Given the description of an element on the screen output the (x, y) to click on. 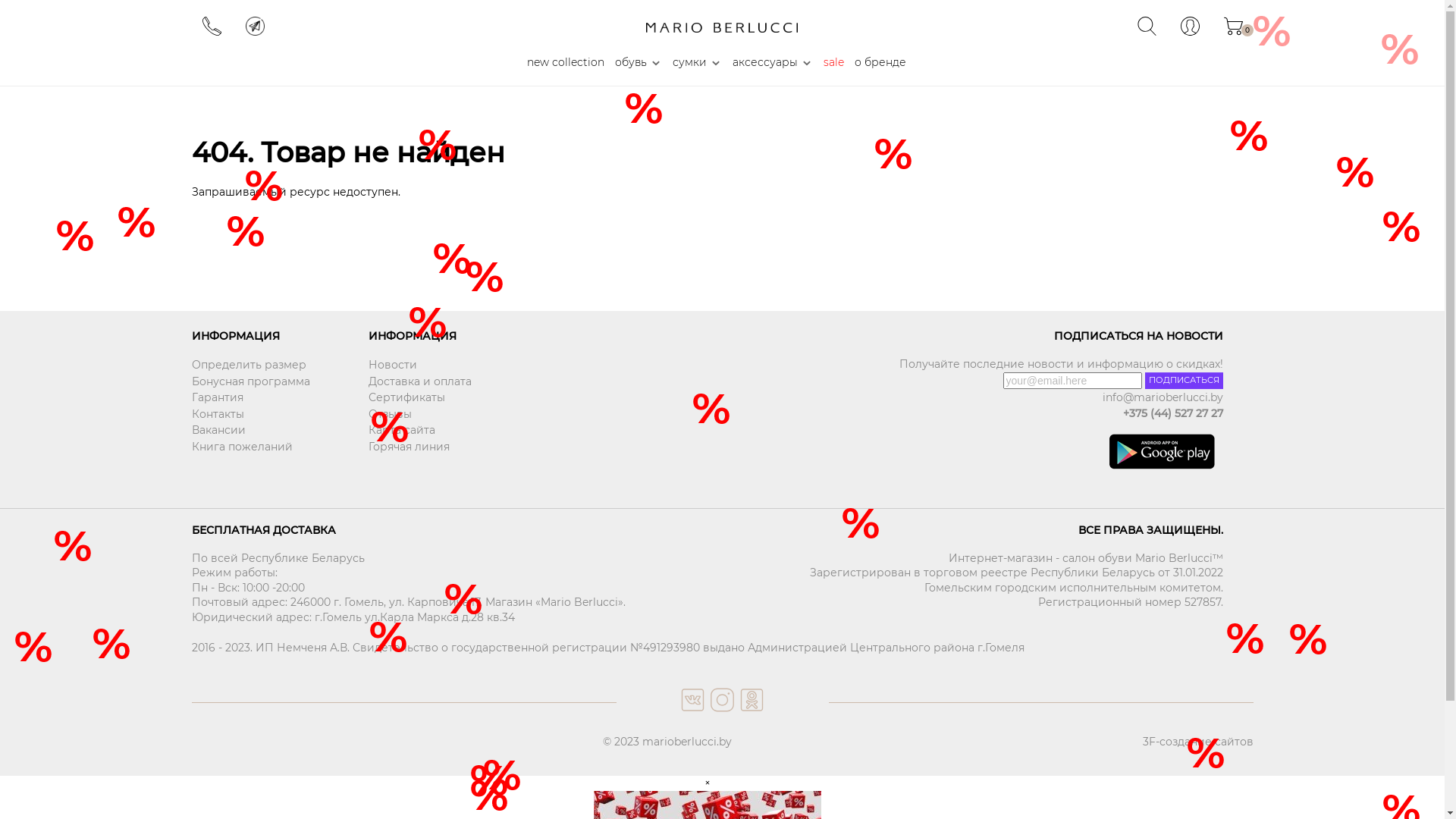
sale Element type: text (833, 62)
0 Element type: text (1233, 31)
info@marioberlucci.by Element type: text (971, 397)
new collection Element type: text (565, 62)
